Given the description of an element on the screen output the (x, y) to click on. 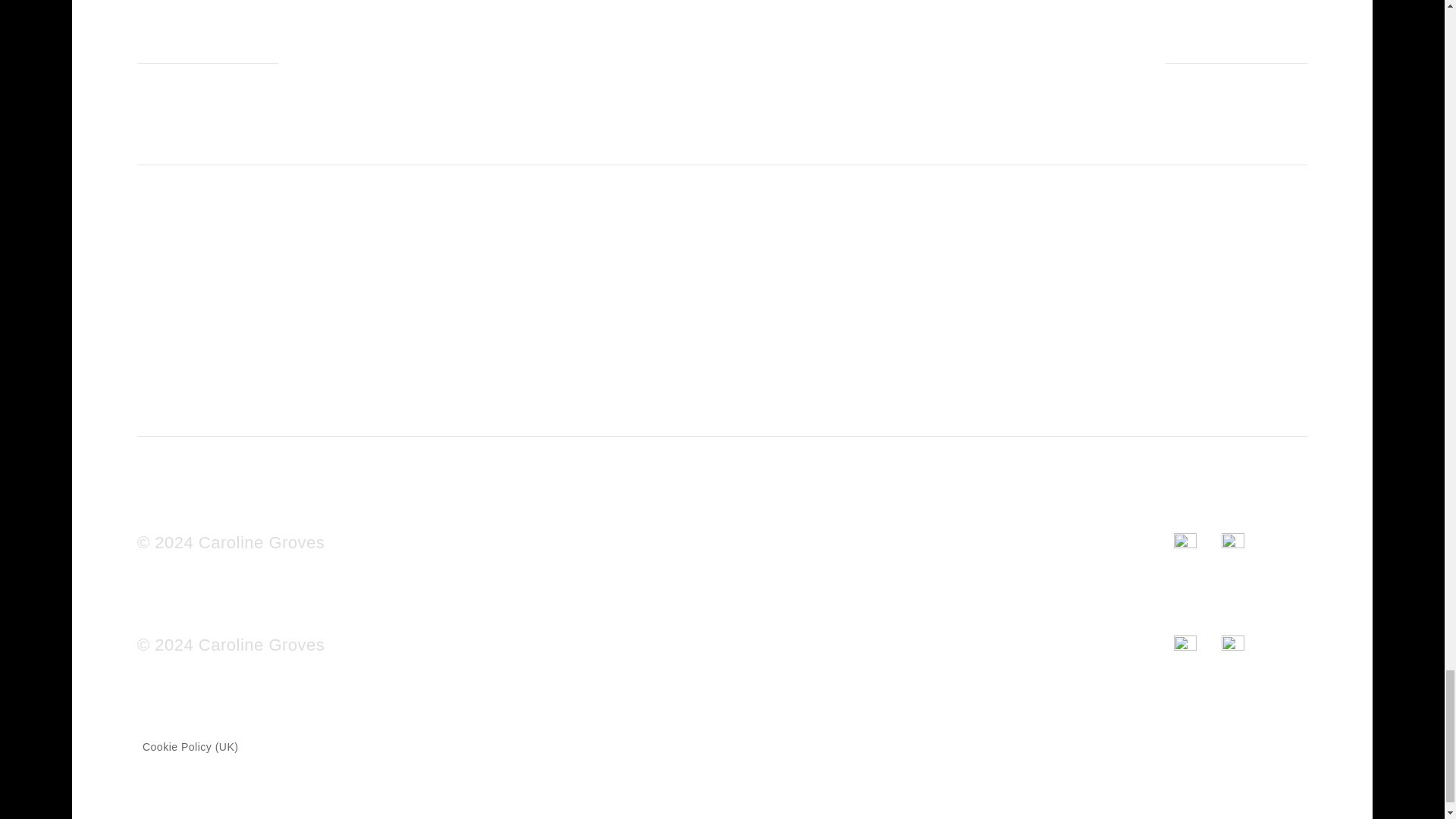
Instagram (1197, 542)
Instagram (1197, 644)
LinkedIn (1245, 644)
LinkedIn (1245, 542)
